Given the description of an element on the screen output the (x, y) to click on. 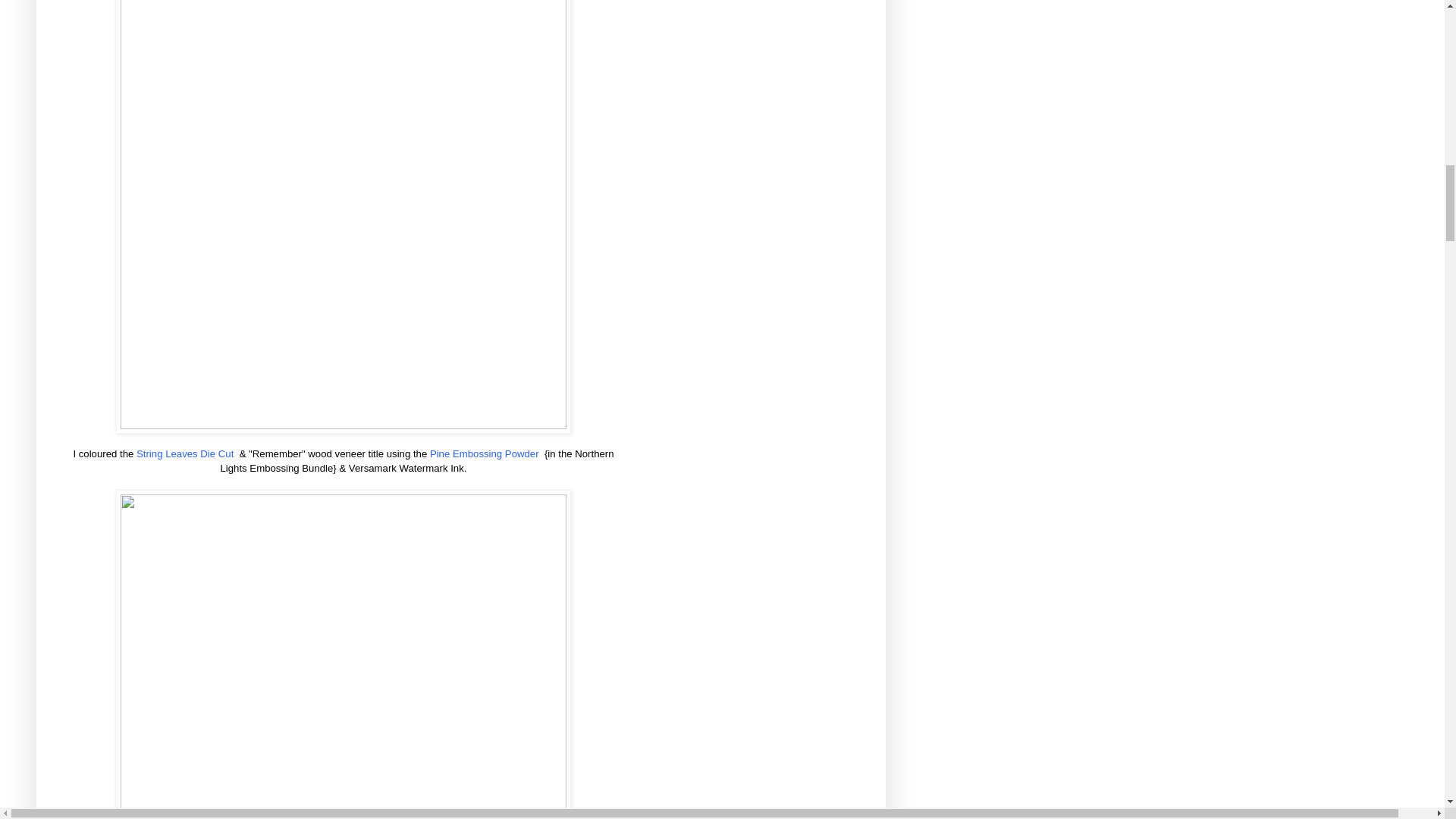
Pine Embossing Powder (485, 453)
String Leaves Die Cut  (185, 453)
